Given the description of an element on the screen output the (x, y) to click on. 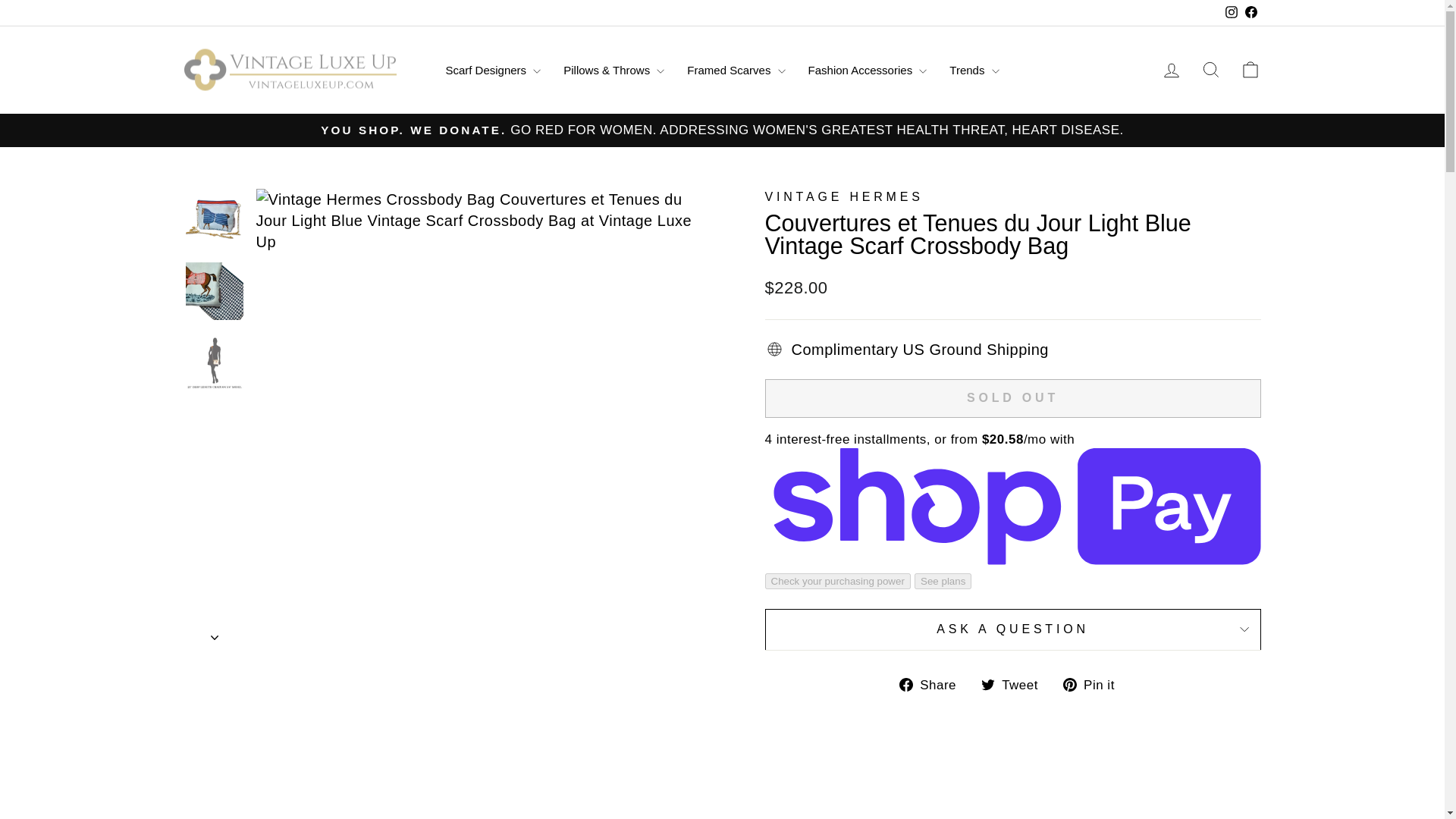
twitter (987, 684)
instagram (1231, 11)
icon-search (1210, 69)
Vintage Hermes (843, 196)
Share on Facebook (933, 683)
Pin on Pinterest (1093, 683)
account (1170, 70)
Tweet on Twitter (1015, 683)
icon-bag-minimal (1249, 69)
